Given the description of an element on the screen output the (x, y) to click on. 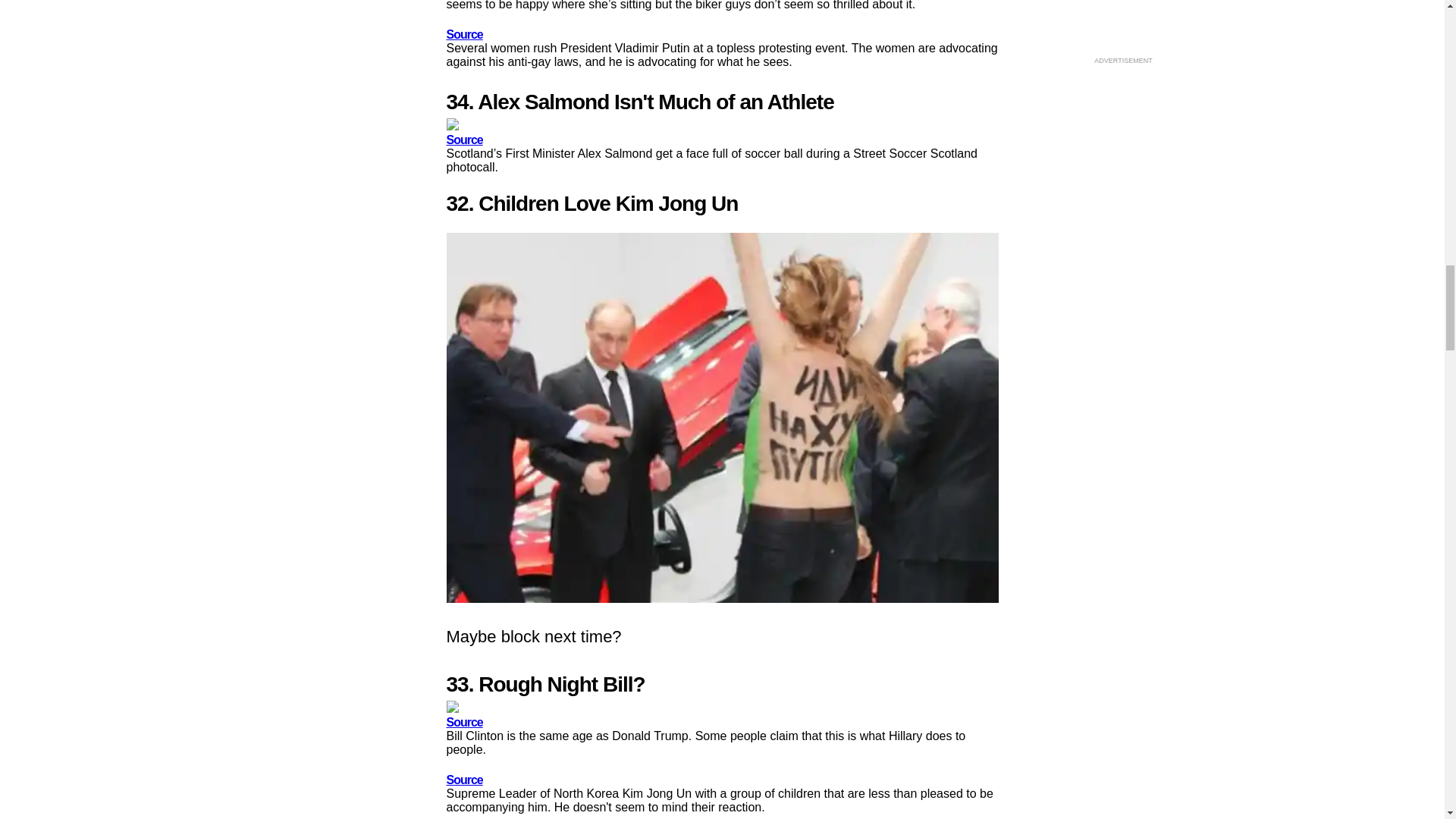
Source (463, 139)
Source (463, 33)
Source (463, 721)
Source (463, 779)
